Given the description of an element on the screen output the (x, y) to click on. 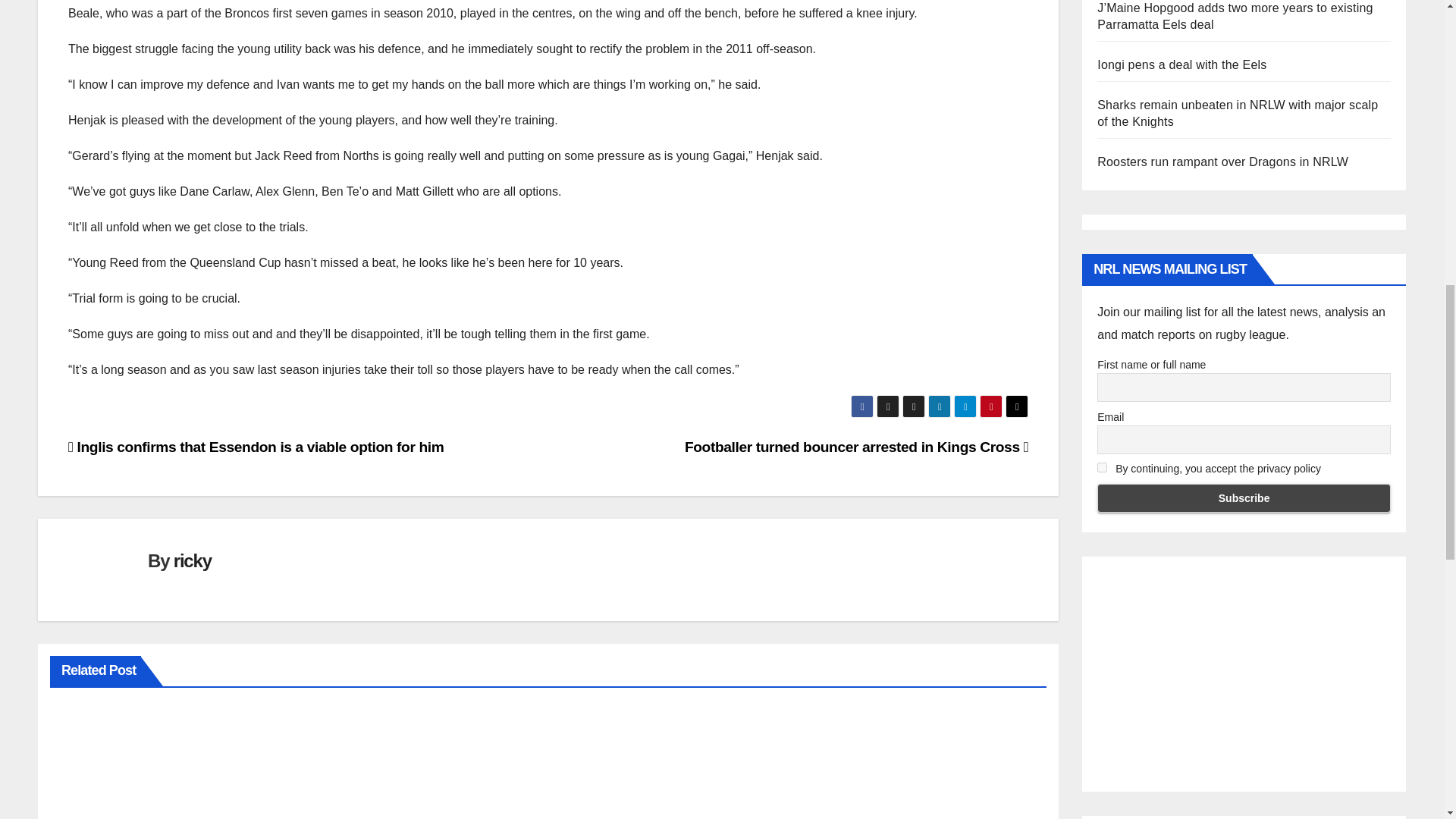
on (1101, 467)
Subscribe (1243, 498)
ricky (192, 560)
Footballer turned bouncer arrested in Kings Cross (855, 446)
Inglis confirms that Essendon is a viable option for him (256, 446)
